Given the description of an element on the screen output the (x, y) to click on. 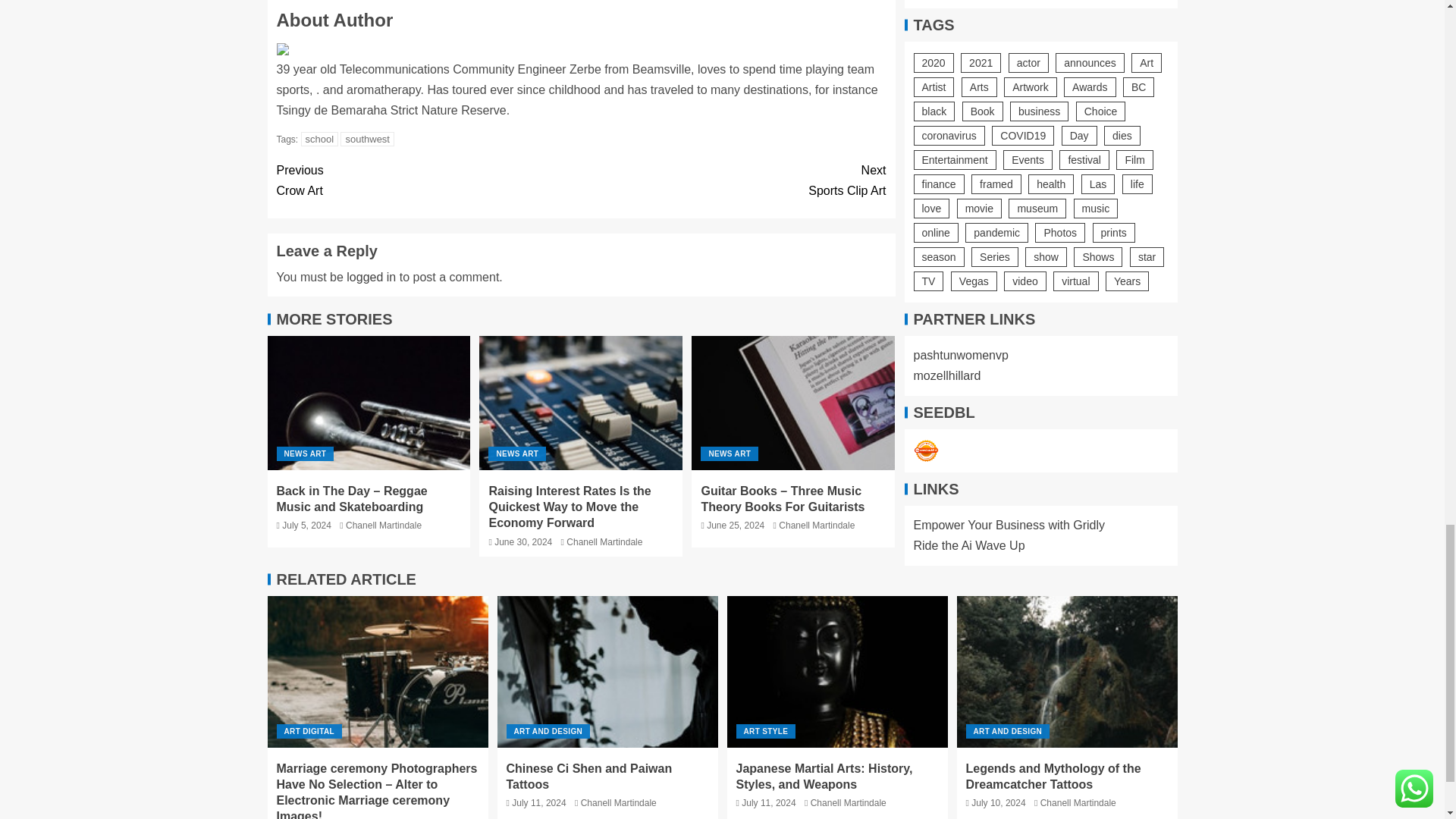
southwest (428, 179)
logged in (367, 138)
school (371, 277)
